Given the description of an element on the screen output the (x, y) to click on. 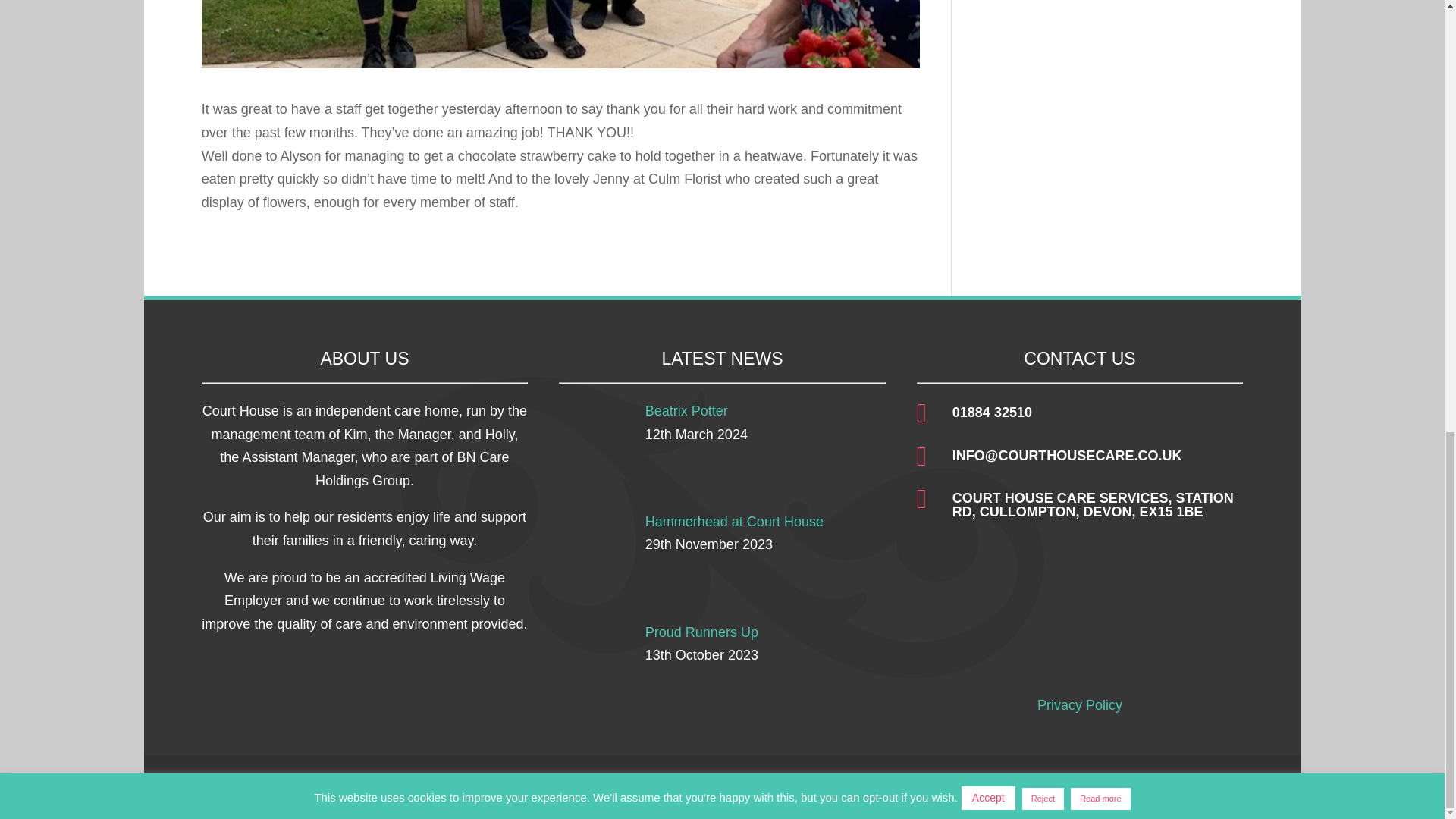
Follow on Twitter (1169, 787)
Follow on RSS (1230, 787)
Follow on Facebook (1138, 787)
Follow on LinkedIn (1200, 787)
